Given the description of an element on the screen output the (x, y) to click on. 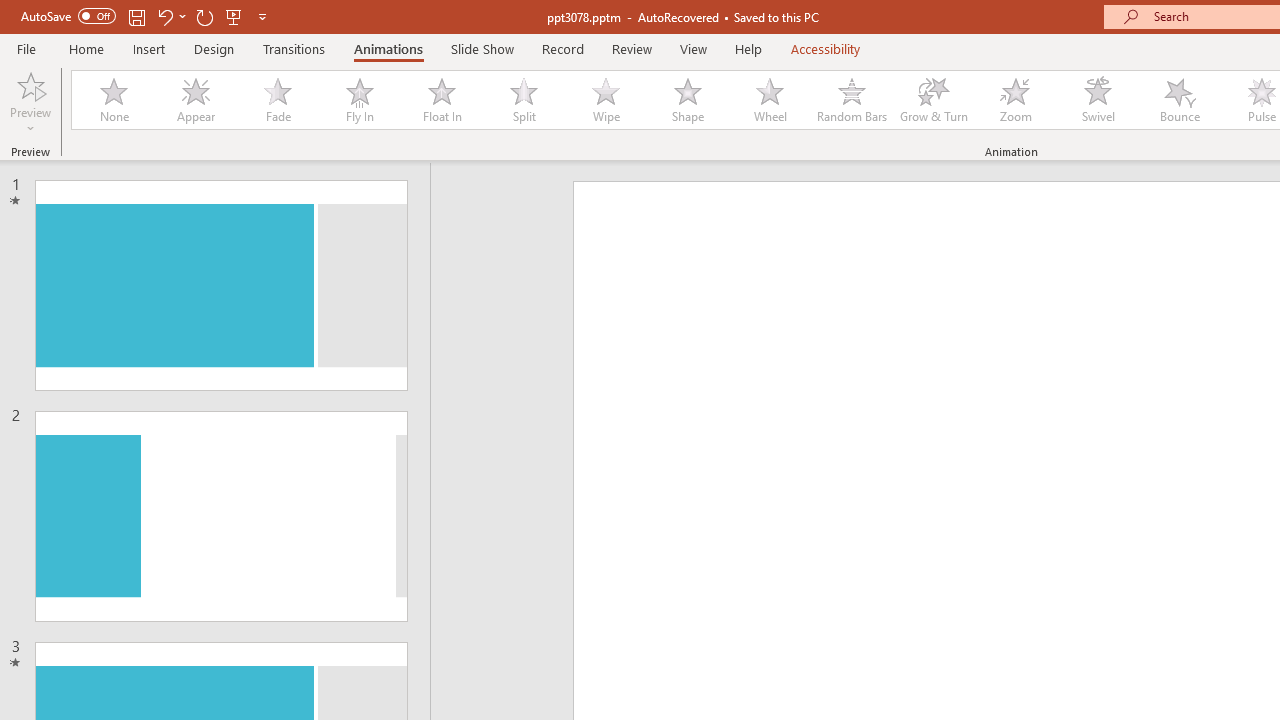
Wipe (605, 100)
Shape (687, 100)
Random Bars (852, 100)
Grow & Turn (934, 100)
Fly In (359, 100)
